Given the description of an element on the screen output the (x, y) to click on. 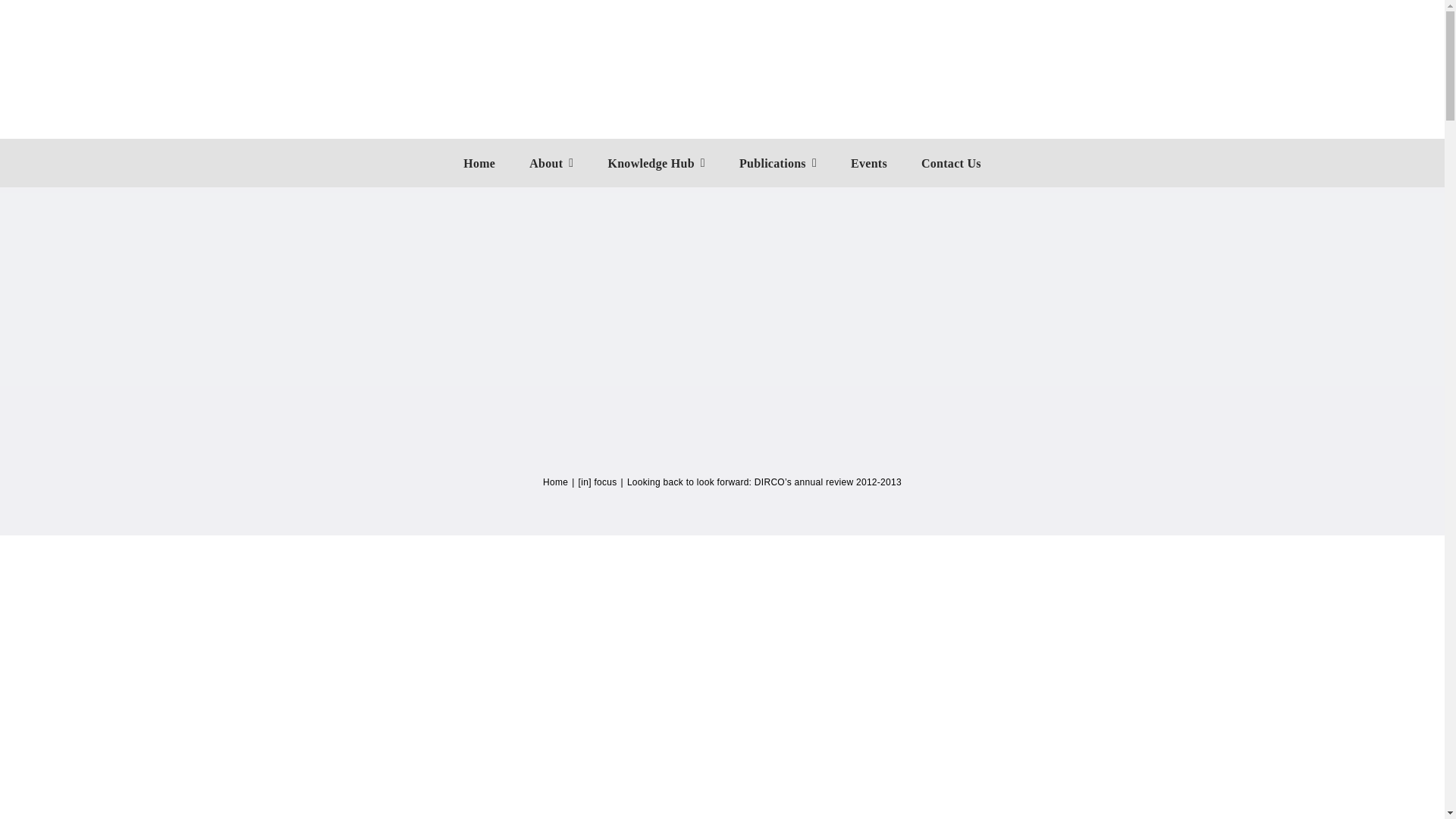
Knowledge Hub (655, 162)
Publications (777, 162)
About (551, 162)
Contact Us (951, 162)
